Given the description of an element on the screen output the (x, y) to click on. 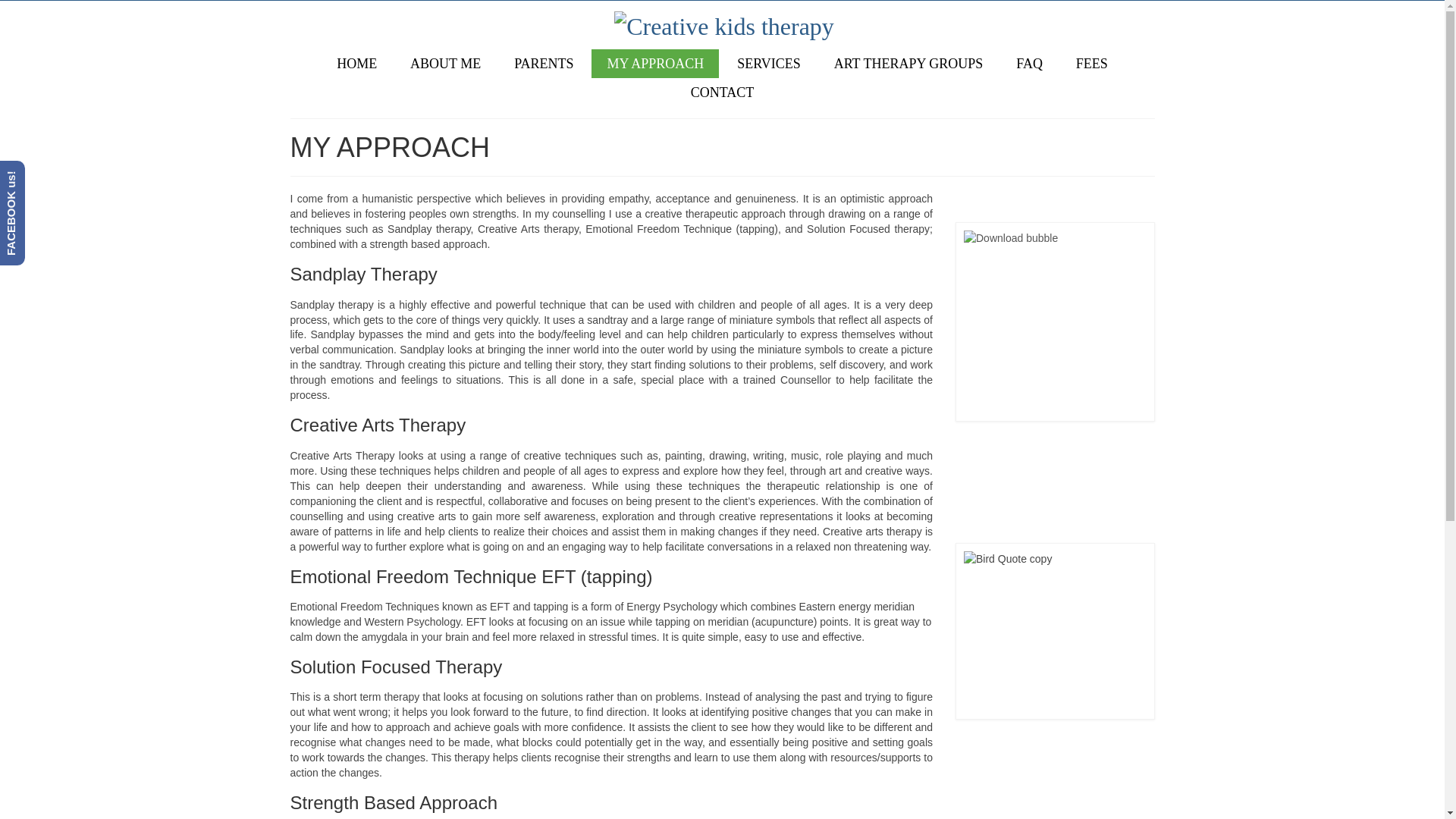
HOME (356, 63)
FAQ (1029, 63)
FACEBOOK us! (51, 173)
CONTACT (722, 92)
MY APPROACH (655, 63)
SERVICES (768, 63)
ABOUT ME (445, 63)
ART THERAPY GROUPS (908, 63)
Creative kids therapy (724, 24)
PARENTS (543, 63)
